Given the description of an element on the screen output the (x, y) to click on. 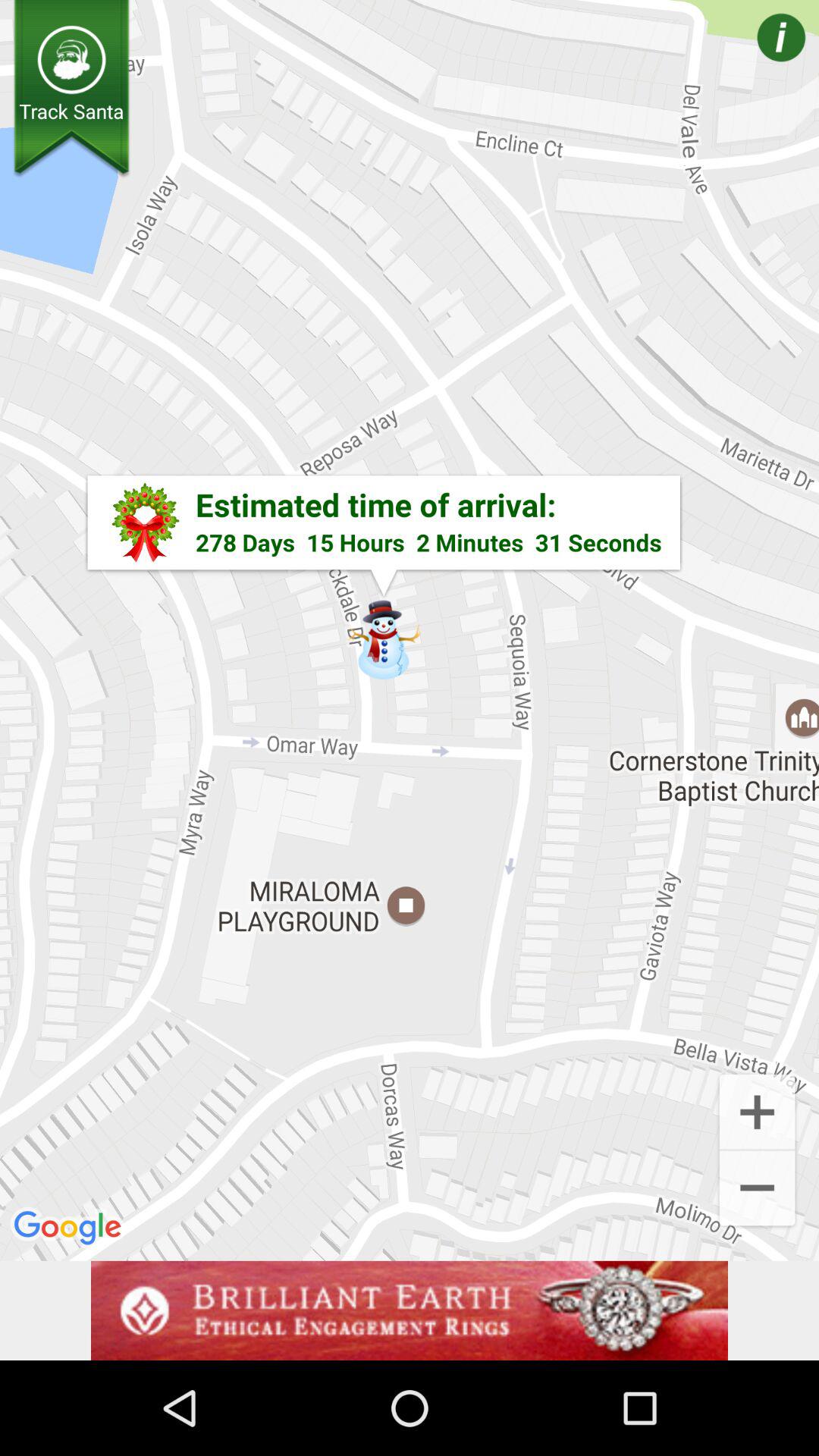
advertisement (409, 1310)
